Given the description of an element on the screen output the (x, y) to click on. 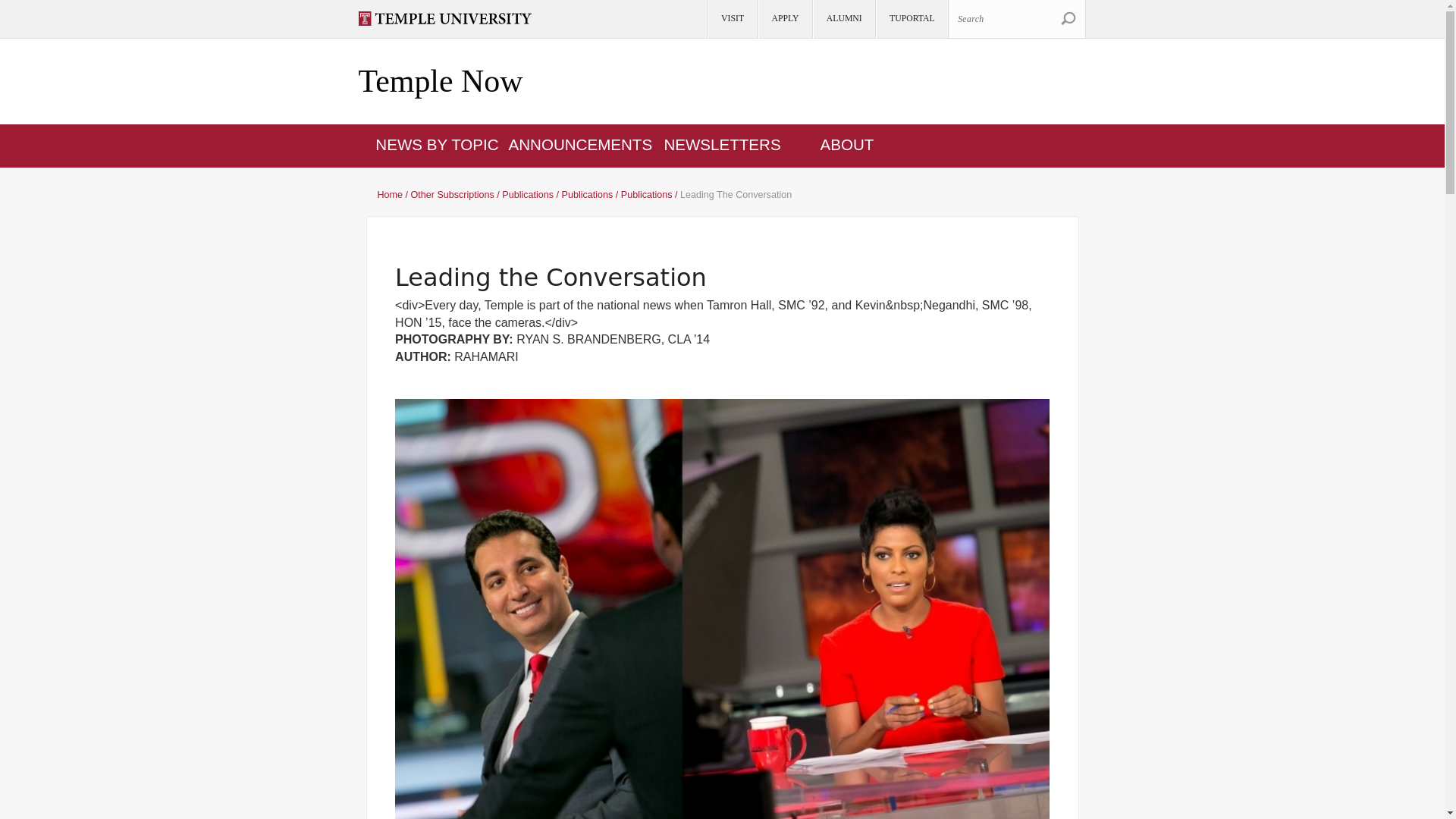
Search (1016, 18)
TUPORTAL (911, 19)
ABOUT (848, 144)
Search (1067, 18)
ALUMNI (843, 19)
Temple Now (440, 81)
NEWSLETTERS (721, 144)
ANNOUNCEMENTS (580, 144)
VISIT (731, 19)
Search (1067, 18)
